Given the description of an element on the screen output the (x, y) to click on. 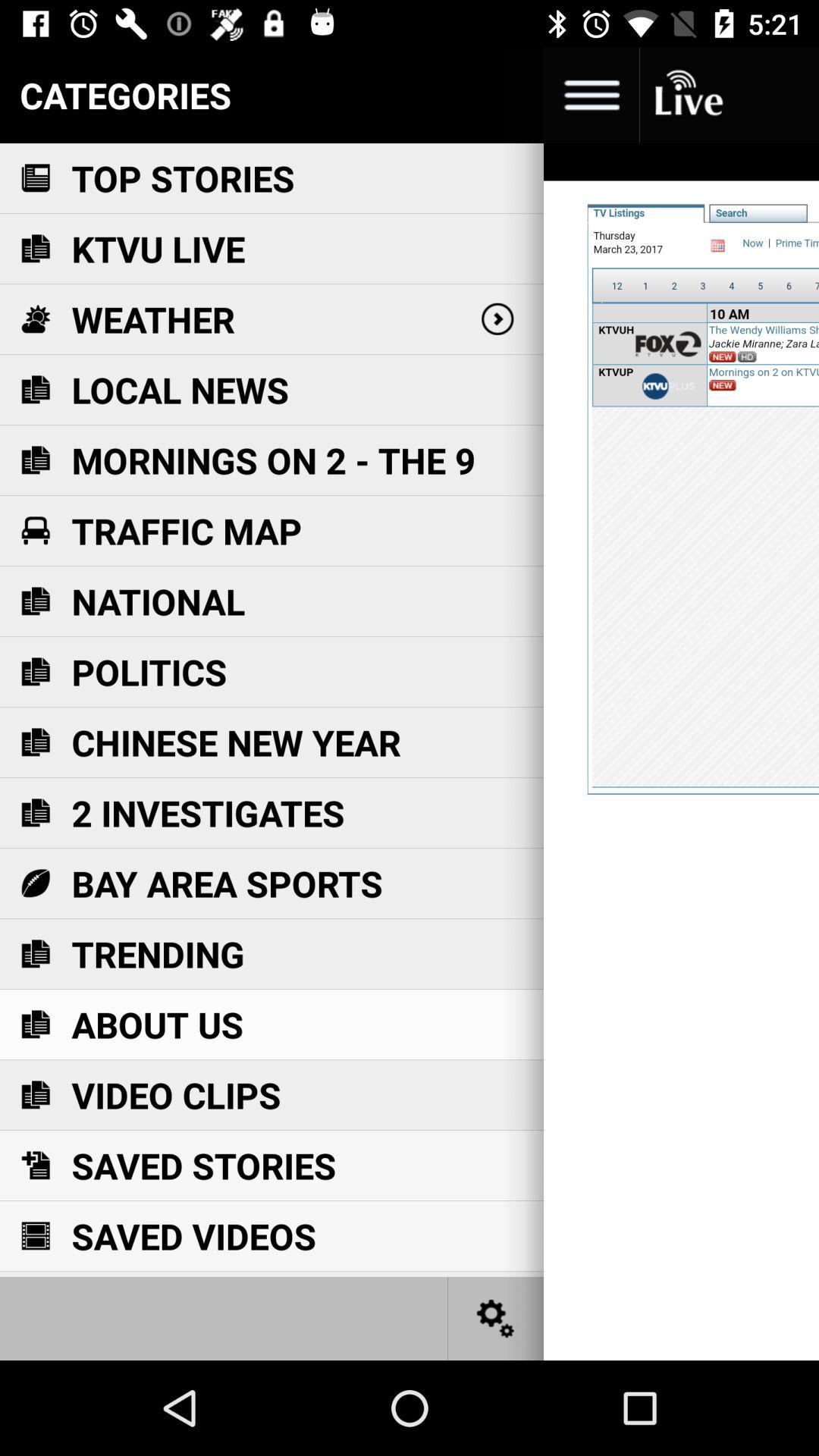
watch live newscast (687, 95)
